Given the description of an element on the screen output the (x, y) to click on. 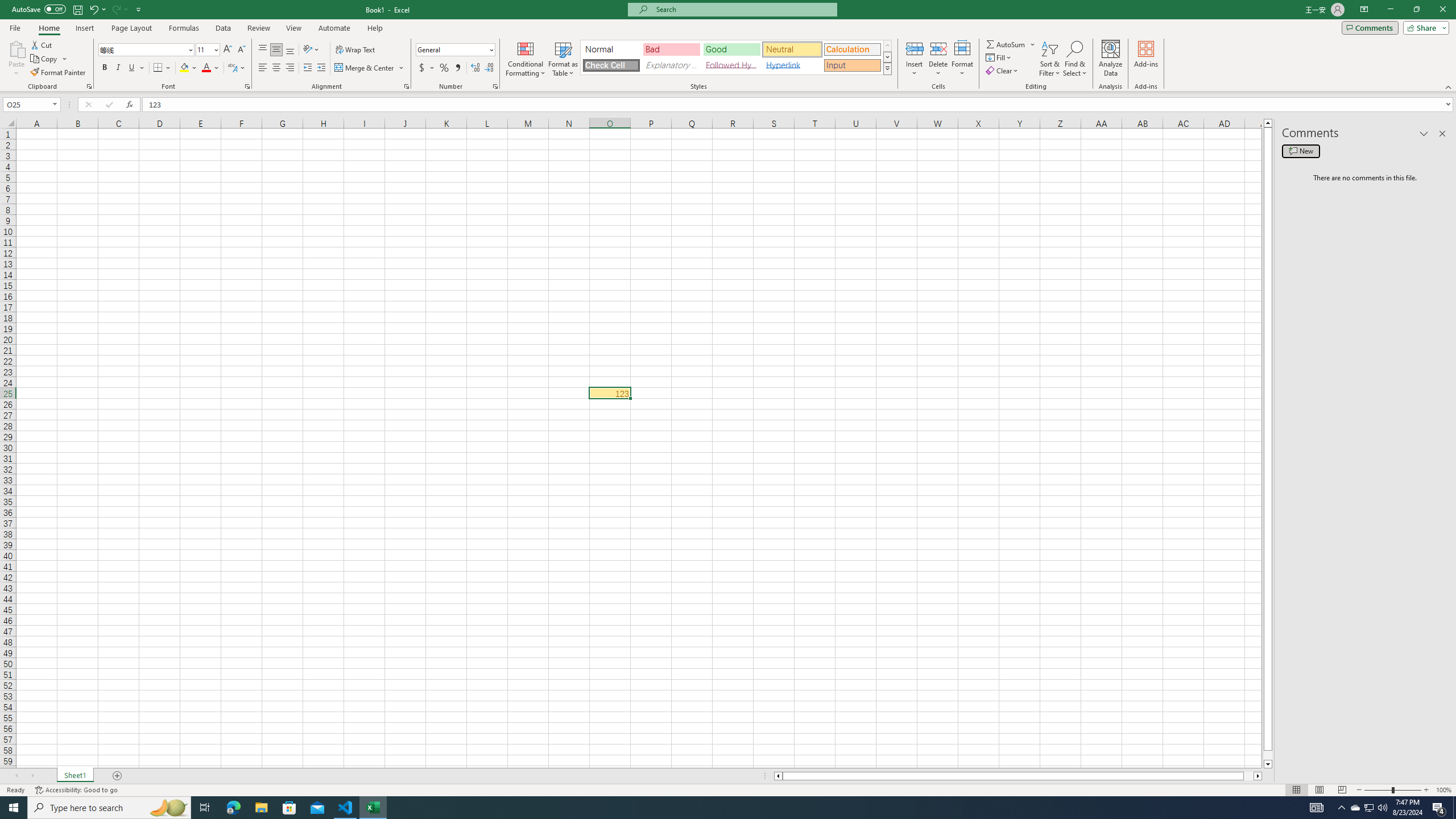
Font Color (210, 67)
Class: NetUIScrollBar (1018, 775)
Zoom In (1426, 790)
Restore Down (1416, 9)
Fill Color RGB(255, 255, 0) (183, 67)
Page Break Preview (1342, 790)
AutoSave (38, 9)
Insert (83, 28)
Neutral (791, 49)
Font (142, 49)
Show Phonetic Field (231, 67)
More Options (1033, 44)
Font Size (204, 49)
Review (258, 28)
Underline (136, 67)
